Given the description of an element on the screen output the (x, y) to click on. 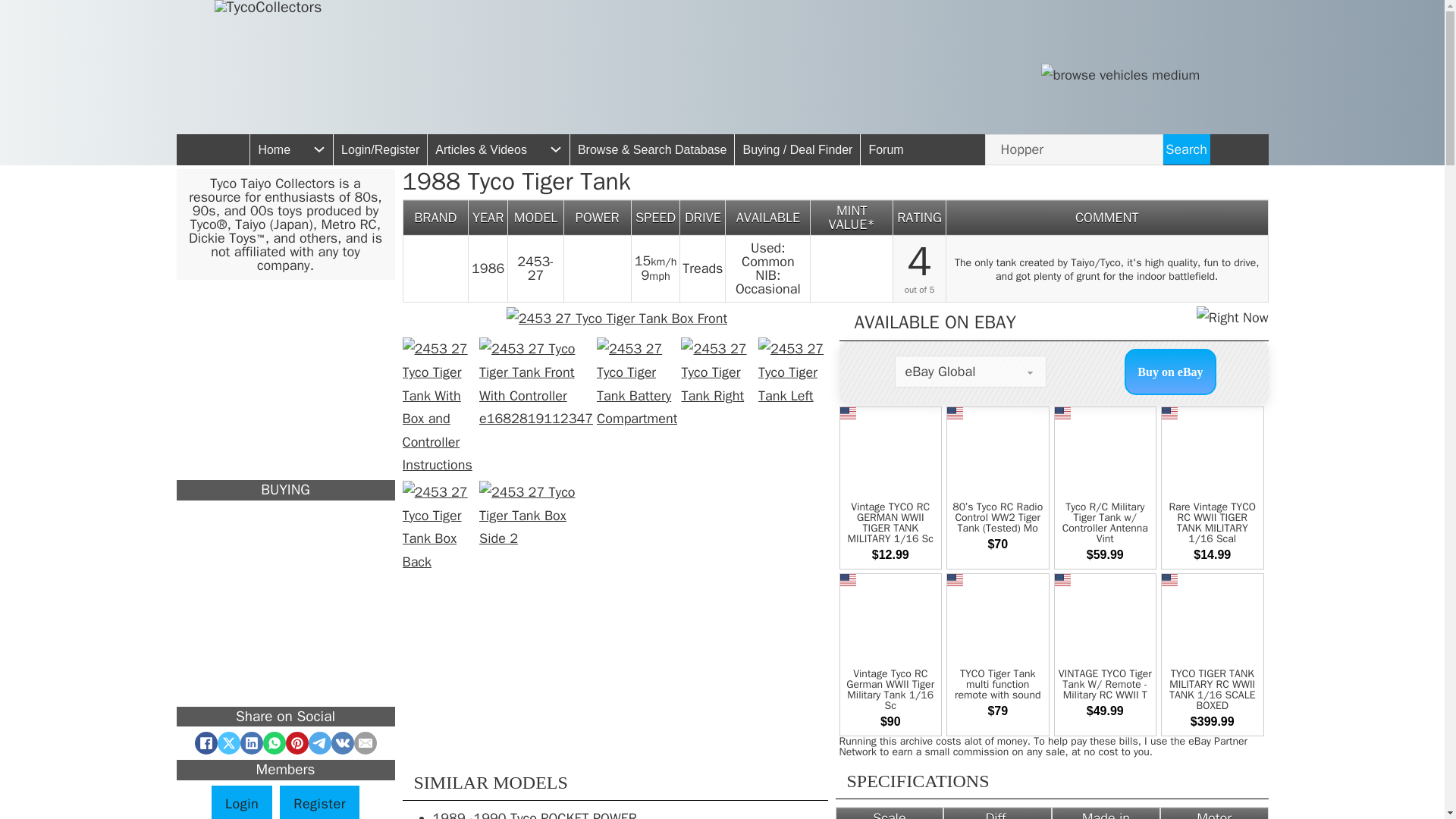
2453 27 Tyco Tiger Tank Box Side 2 (535, 515)
Home (274, 149)
Forum (885, 149)
2453 27 Tyco Tiger Tank Right (717, 372)
2453 27 Tyco Tiger Tank Box Front (616, 318)
2453 27 Tyco Tiger Tank Left (794, 372)
2453 27 Tyco Tiger Tank Front With Controller e1682819112347 (535, 383)
